Given the description of an element on the screen output the (x, y) to click on. 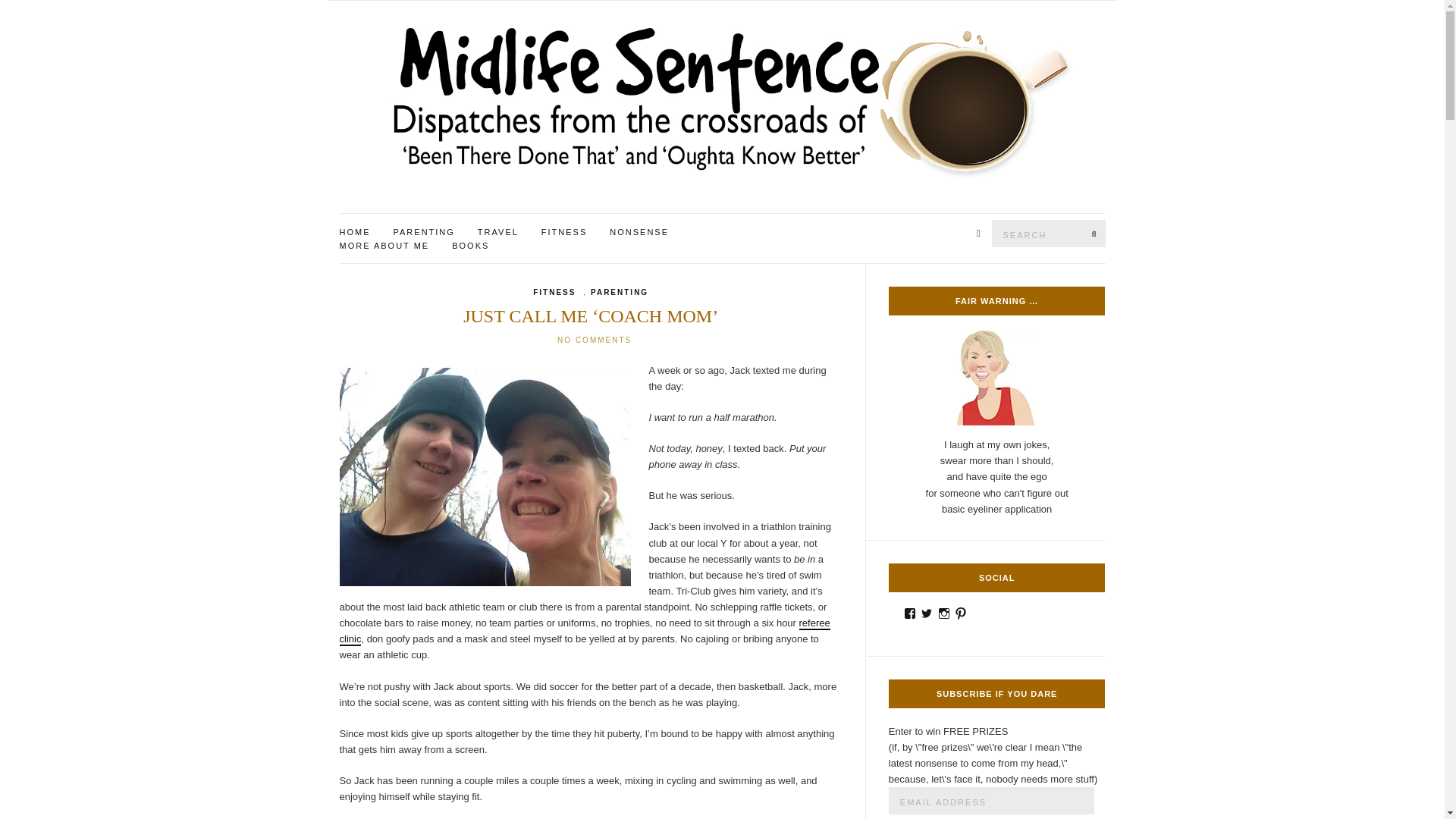
TRAVEL (497, 232)
NONSENSE (639, 232)
BOOKS (470, 246)
MORE ABOUT ME (384, 246)
PARENTING (619, 292)
NO COMMENTS (594, 339)
PARENTING (423, 232)
FITNESS (553, 292)
referee clinic (584, 631)
FITNESS (563, 232)
